Given the description of an element on the screen output the (x, y) to click on. 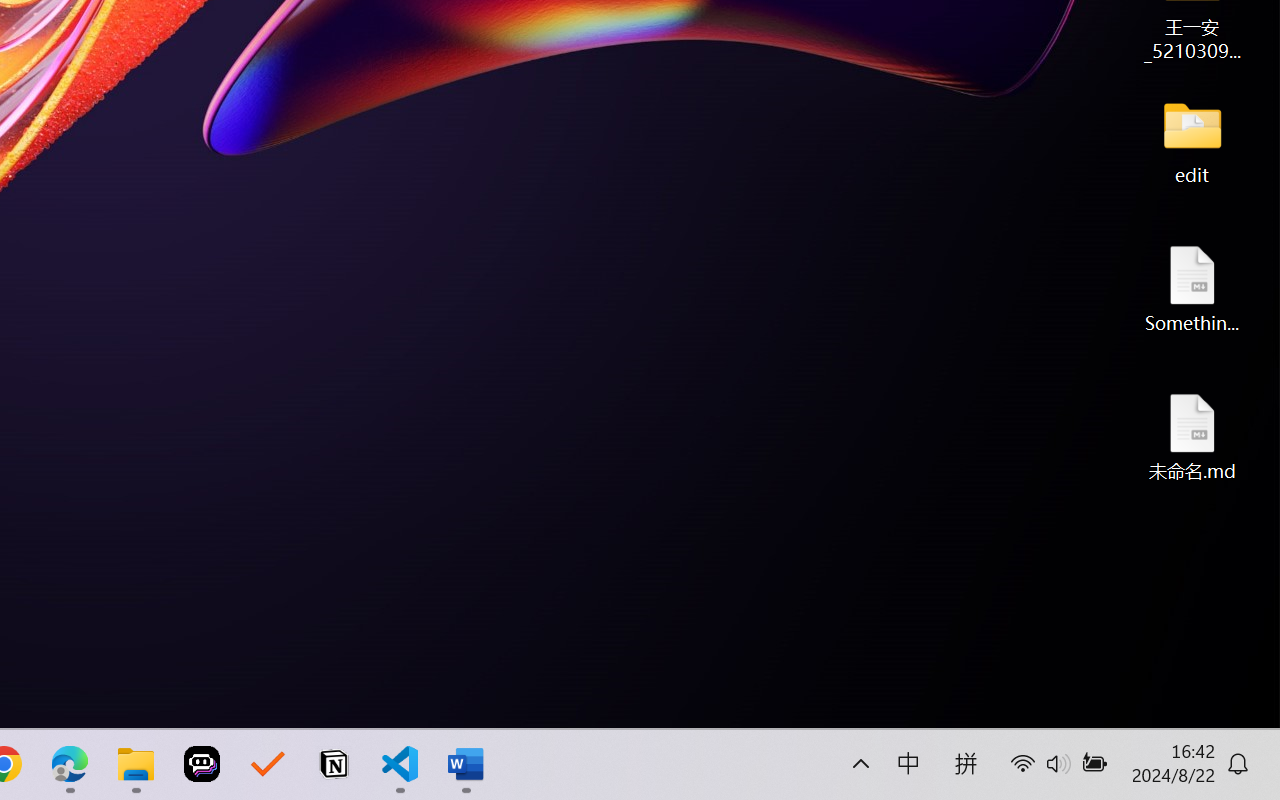
Something.md (1192, 288)
edit (1192, 140)
